Given the description of an element on the screen output the (x, y) to click on. 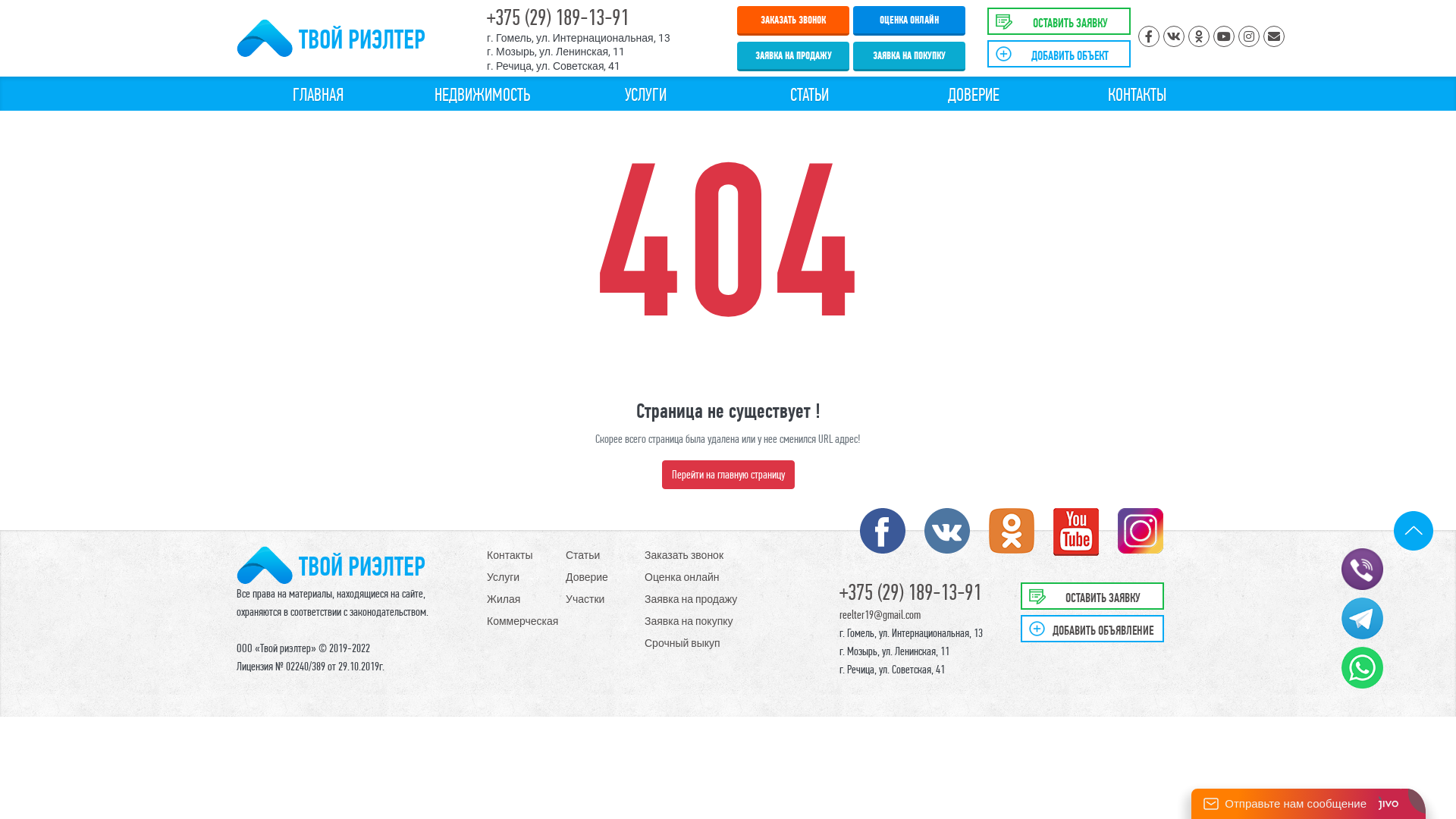
+375 (29) 189-13-91 Element type: text (910, 592)
reelter19@gmail.com Element type: text (879, 614)
+375 (29) 189-13-91 Element type: text (557, 17)
